Given the description of an element on the screen output the (x, y) to click on. 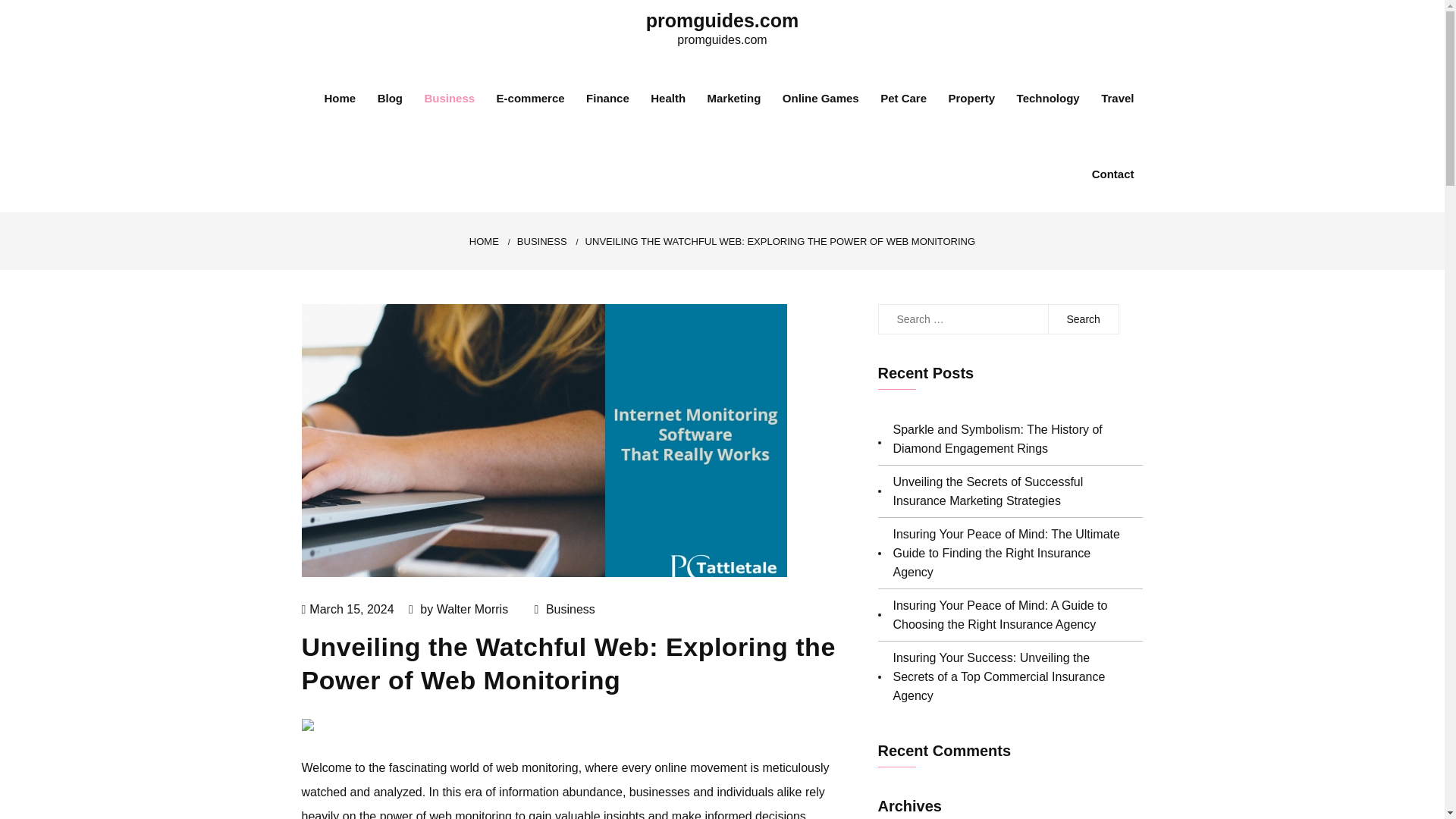
Walter Morris (472, 608)
Online Games (821, 98)
Business (570, 608)
HOME (483, 241)
BUSINESS (541, 241)
promguides.com (721, 20)
E-commerce (530, 98)
Search (1083, 318)
Search (1083, 318)
March 15, 2024 (350, 608)
